Given the description of an element on the screen output the (x, y) to click on. 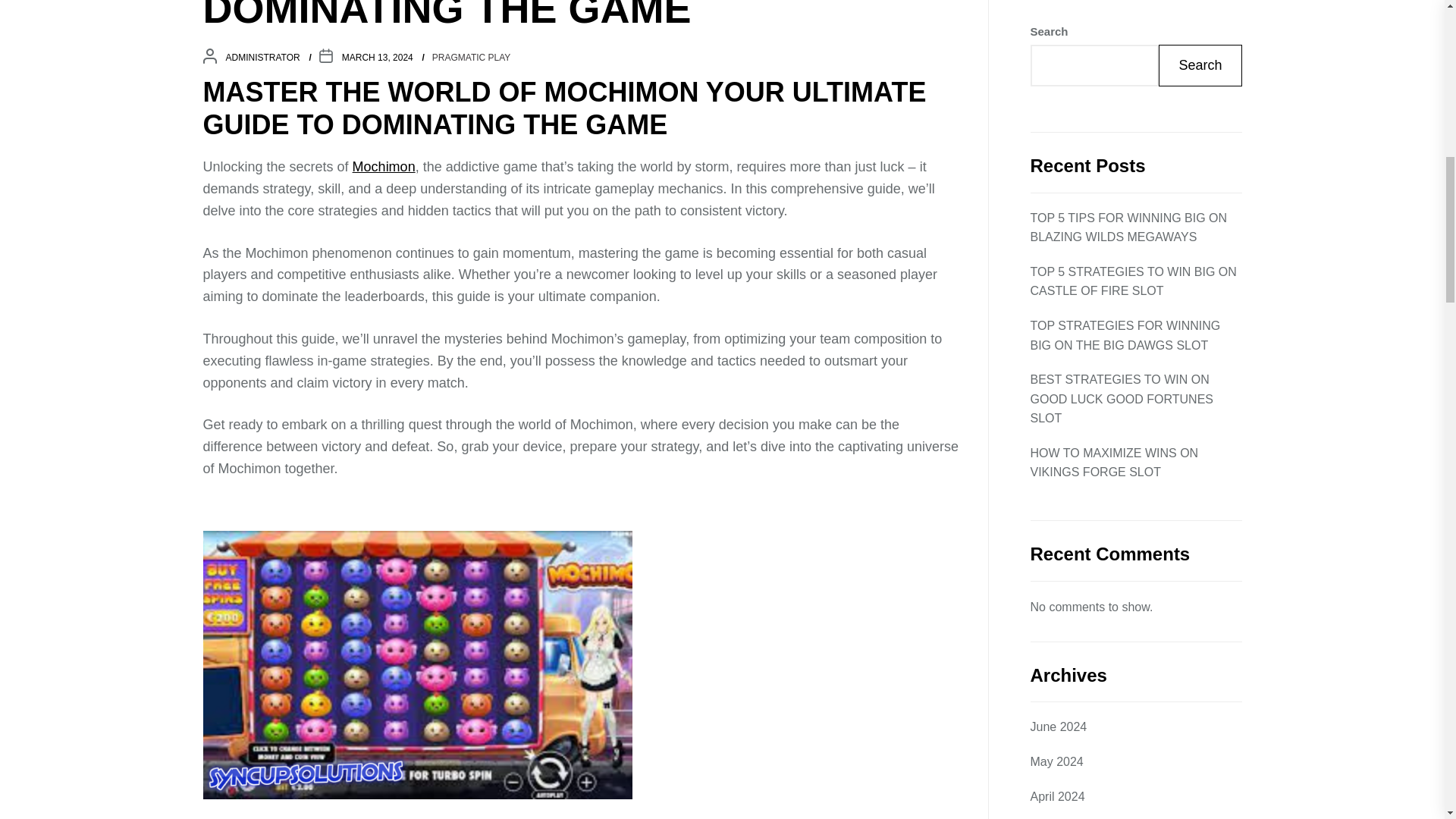
HABANERO (1063, 388)
ADMINISTRATOR (262, 57)
Mochimon (383, 166)
JOKER GAMING (1075, 423)
PRAGMATIC PLAY (471, 57)
April 2024 (1056, 185)
May 2024 (1056, 150)
PGSOFT (1054, 456)
March 2024 (1061, 219)
AISGAMING (1064, 353)
PRAGMATIC PLAY (1081, 492)
Uncategorized (1068, 526)
MARCH 13, 2024 (377, 57)
June 2024 (1057, 116)
